Given the description of an element on the screen output the (x, y) to click on. 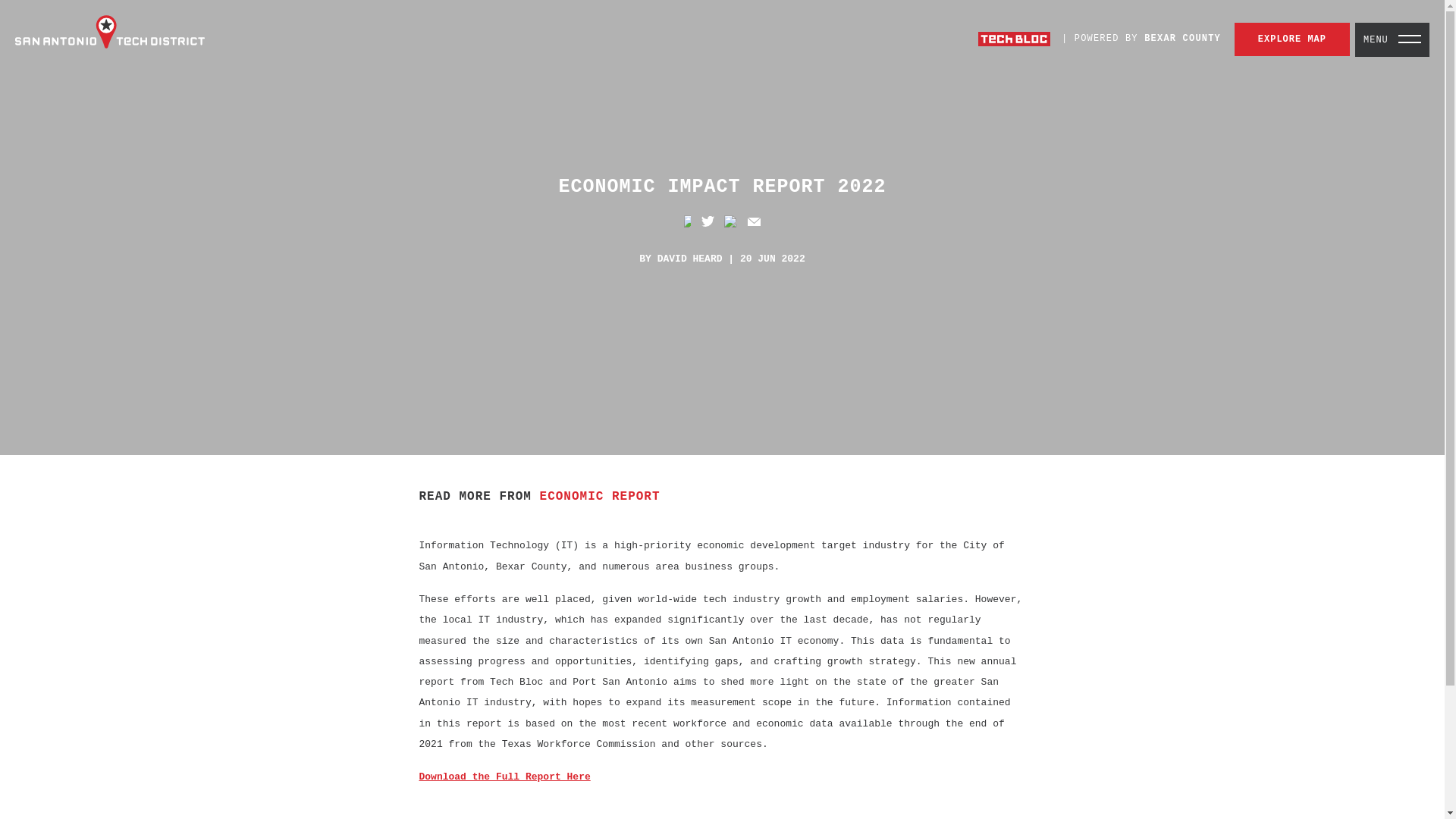
Share by Email (753, 221)
ECONOMIC REPORT (600, 496)
EXPLORE MAP (1291, 39)
Download the Full Report Here (504, 776)
MENU (1392, 39)
BEXAR COUNTY (1182, 38)
